Given the description of an element on the screen output the (x, y) to click on. 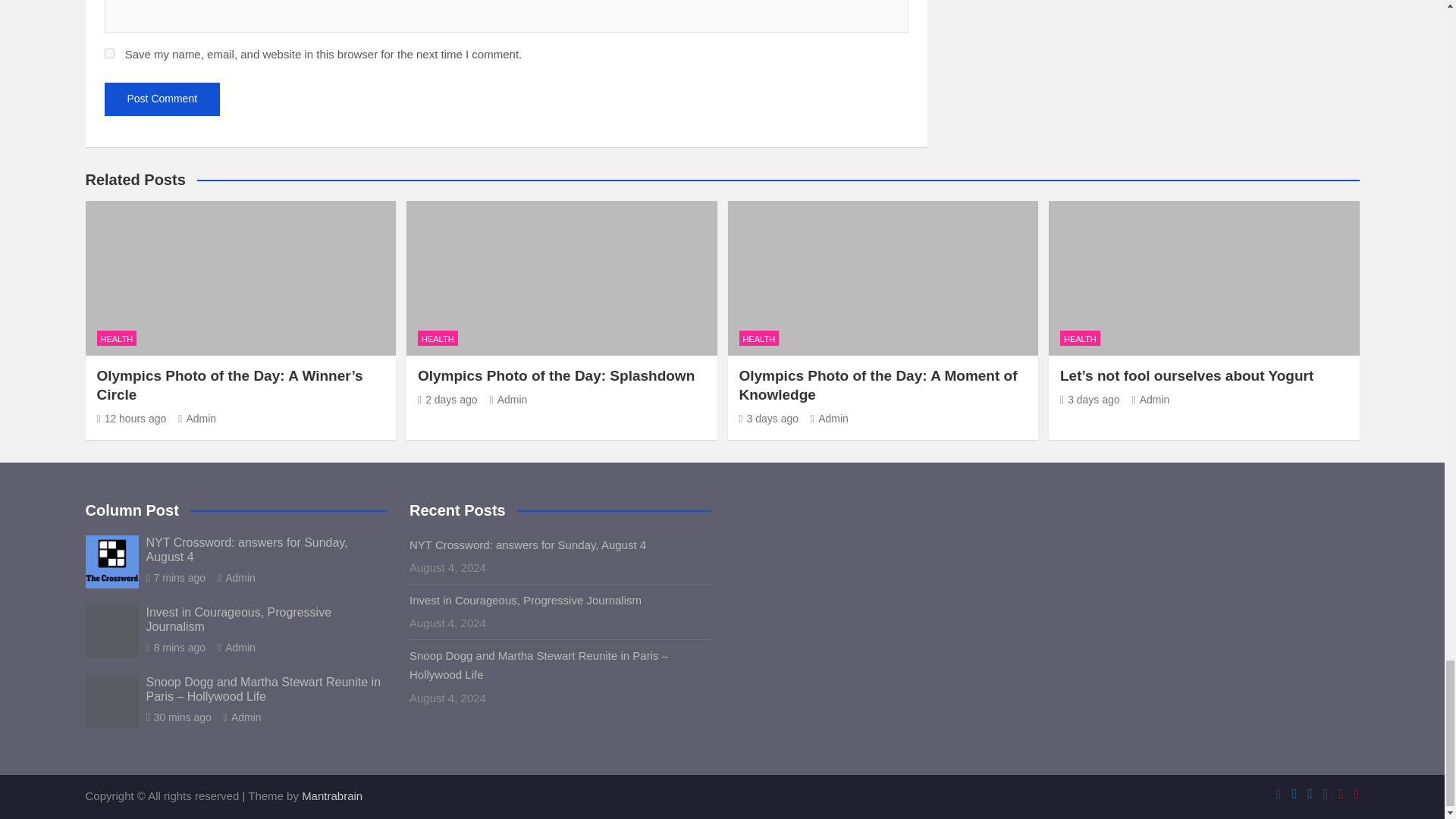
Olympics Photo of the Day: A Moment of Knowledge (767, 418)
Post Comment (162, 99)
Mantrabrain (331, 795)
Invest in Courageous, Progressive Journalism (175, 647)
yes (109, 53)
Olympics Photo of the Day: Splashdown (447, 399)
NYT Crossword: answers for Sunday, August 4 (175, 577)
